Given the description of an element on the screen output the (x, y) to click on. 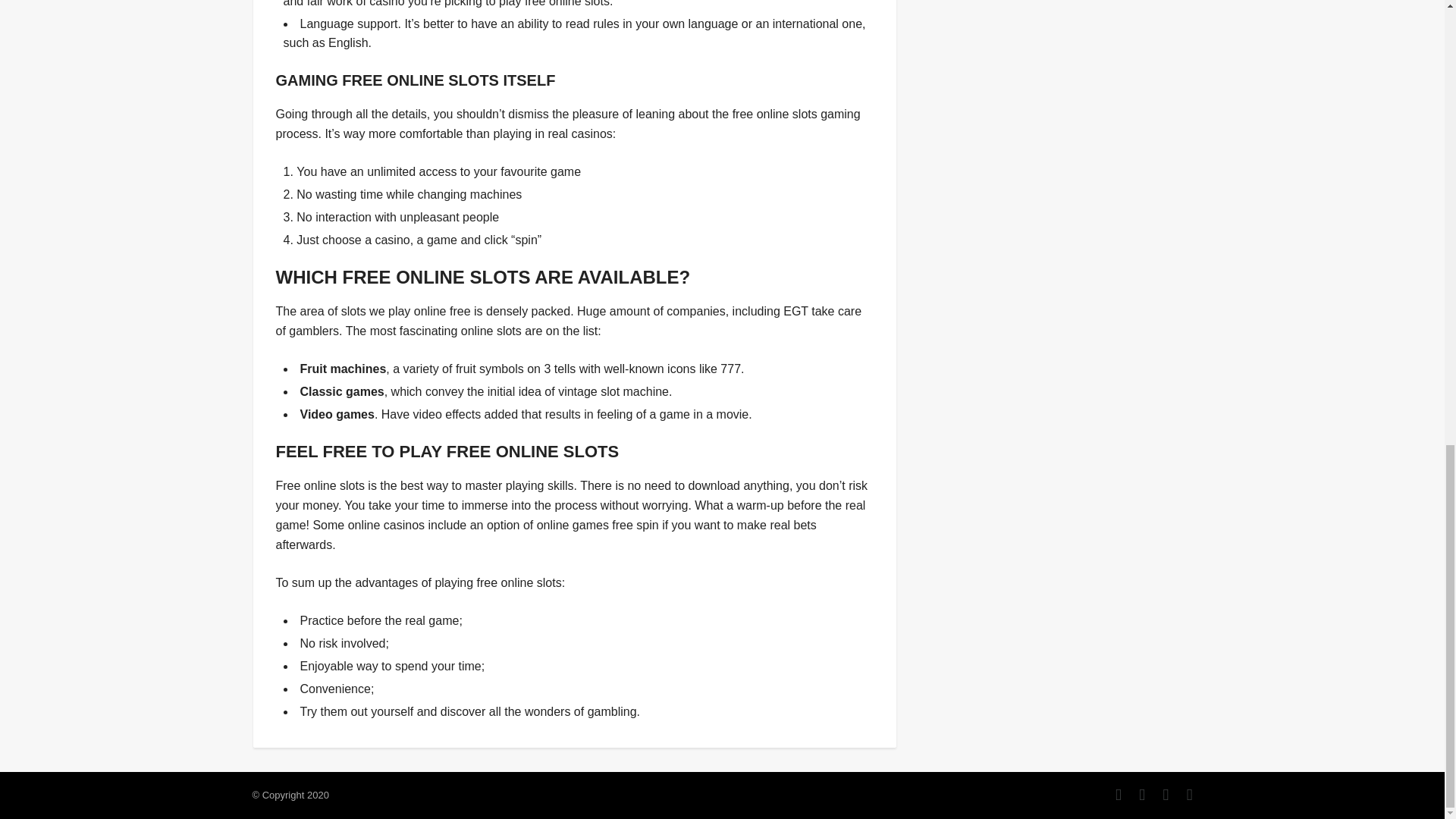
Youtube (1182, 795)
Twitter (1134, 795)
Facebook (1110, 795)
